Given the description of an element on the screen output the (x, y) to click on. 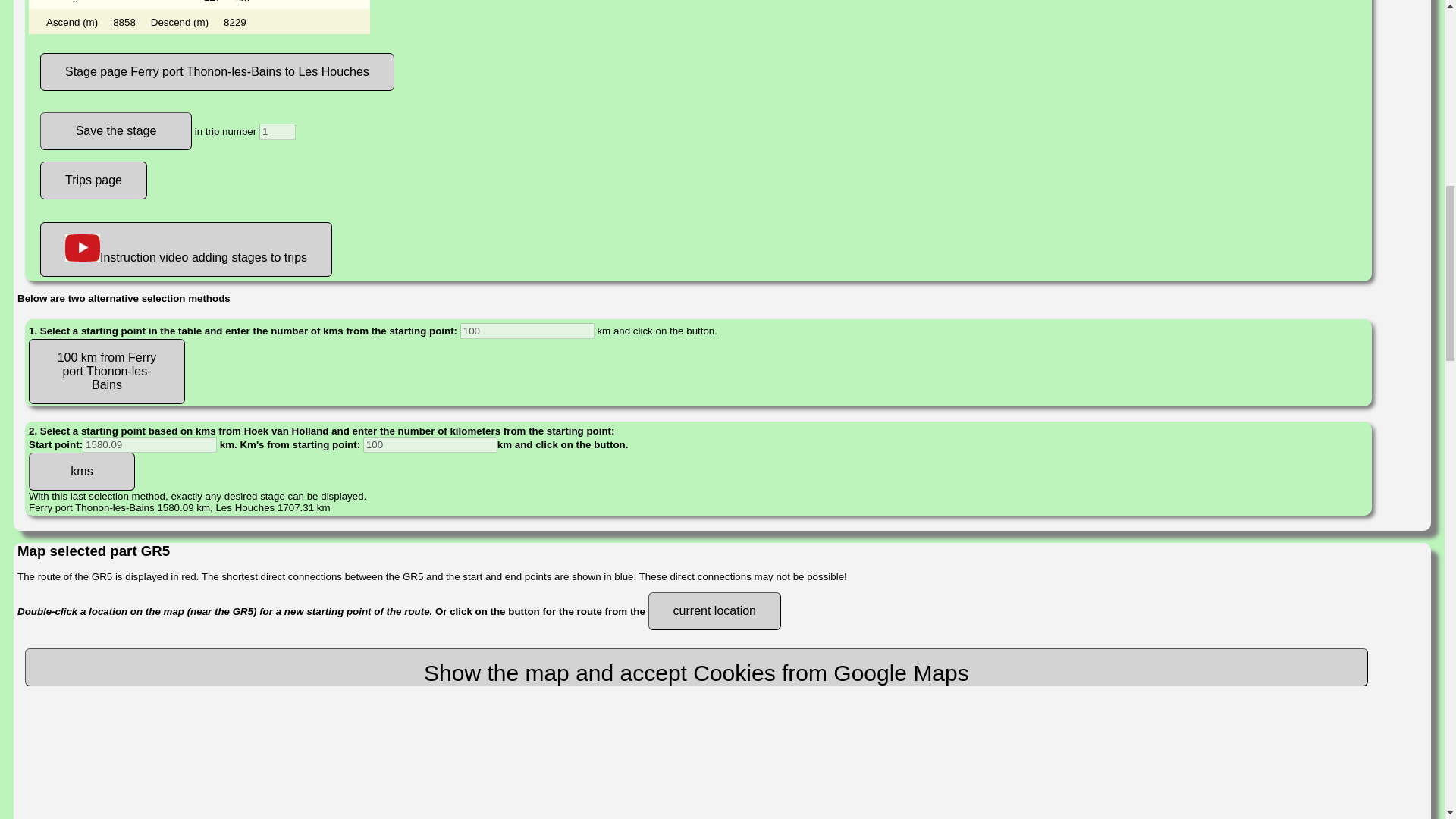
Instructie videos (82, 247)
